Given the description of an element on the screen output the (x, y) to click on. 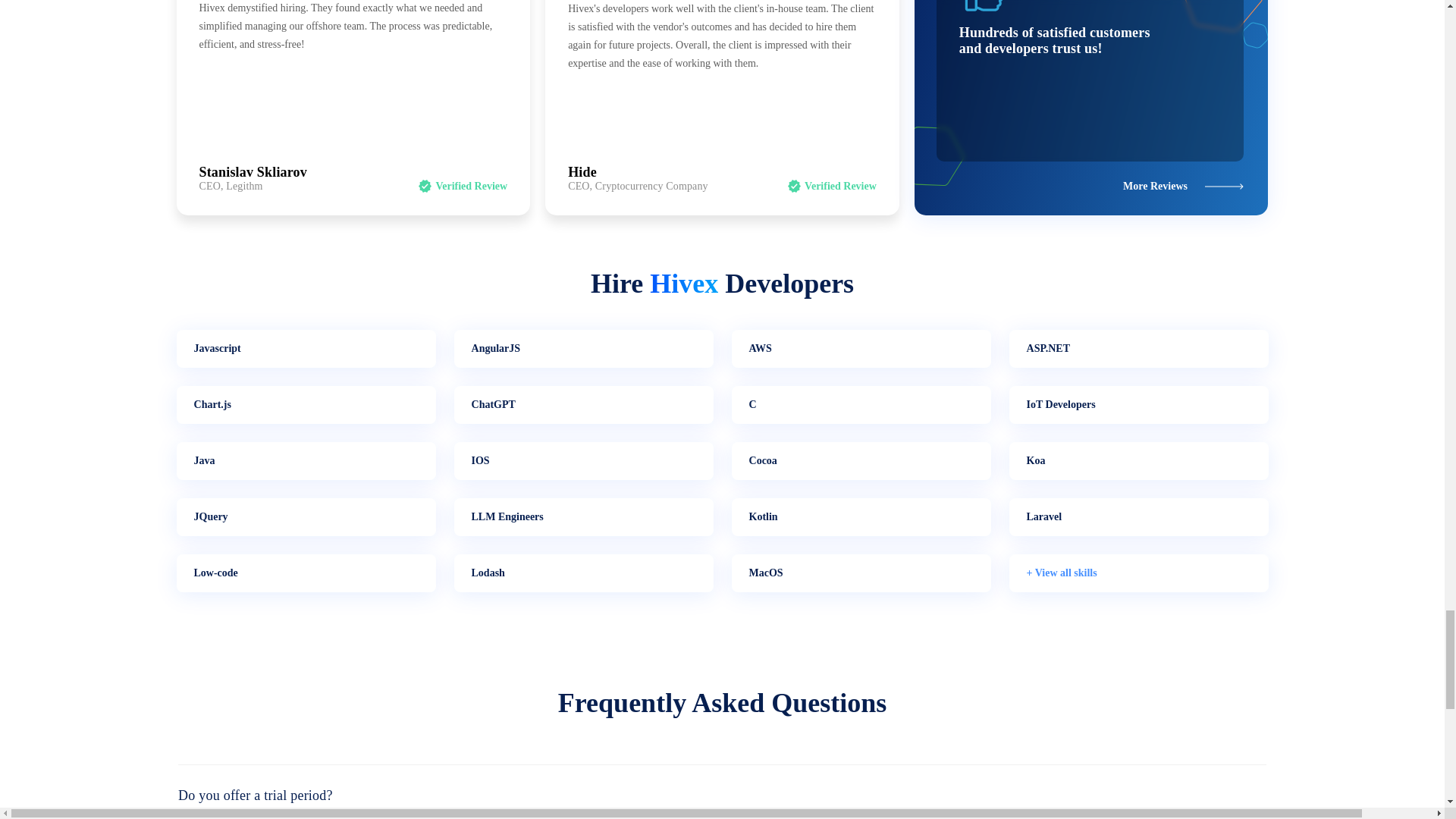
ChatGPT (582, 404)
AWS (860, 348)
Javascript (305, 348)
Java (305, 460)
ASP.NET (1138, 348)
C (860, 404)
More Reviews (1182, 185)
AngularJS (582, 348)
IoT Developers (1138, 404)
Chart.js (305, 404)
